Given the description of an element on the screen output the (x, y) to click on. 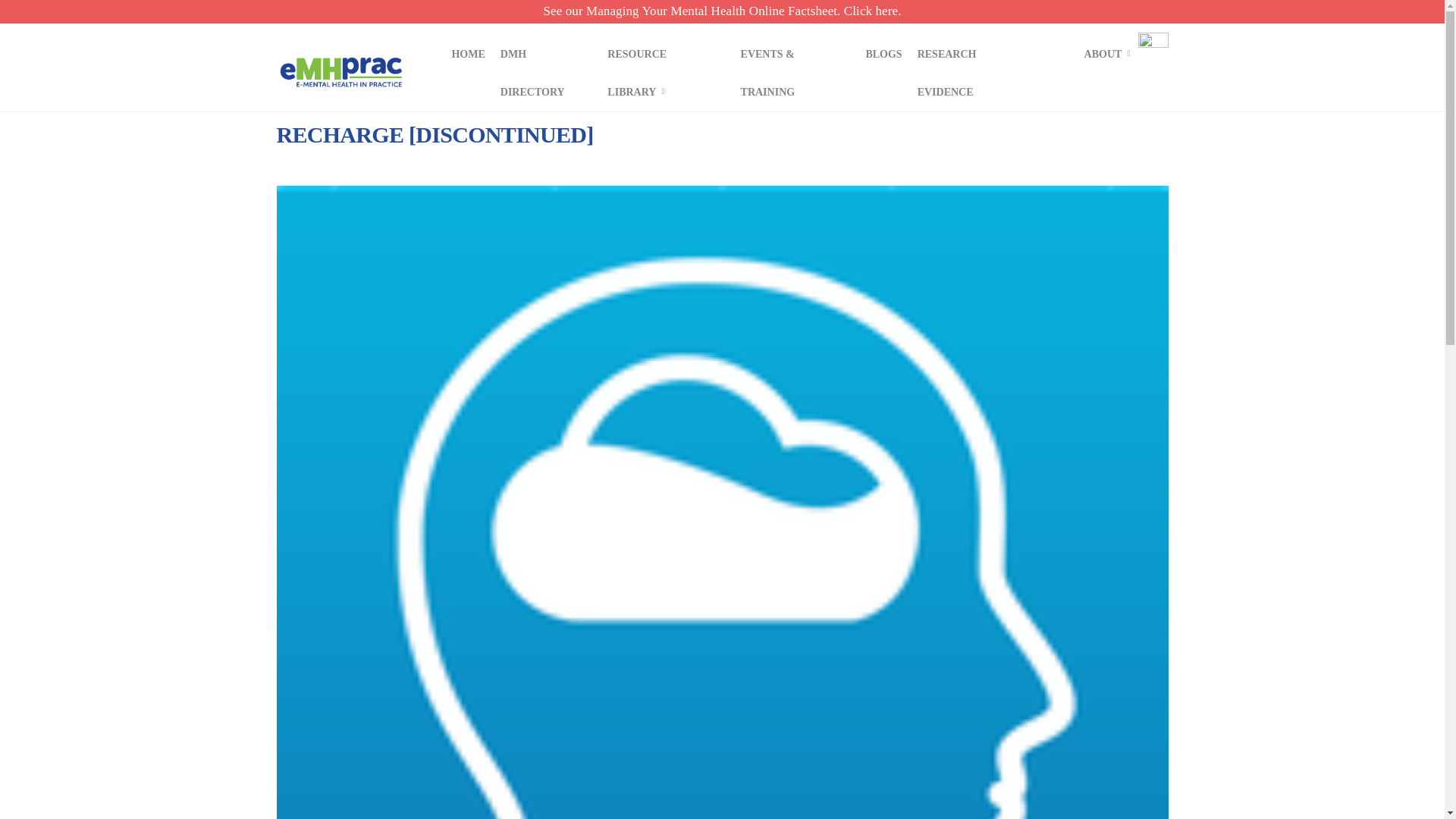
RESEARCH EVIDENCE (976, 71)
DMH DIRECTORY (546, 71)
Click here. (872, 11)
RESOURCE LIBRARY (665, 71)
